Given the description of an element on the screen output the (x, y) to click on. 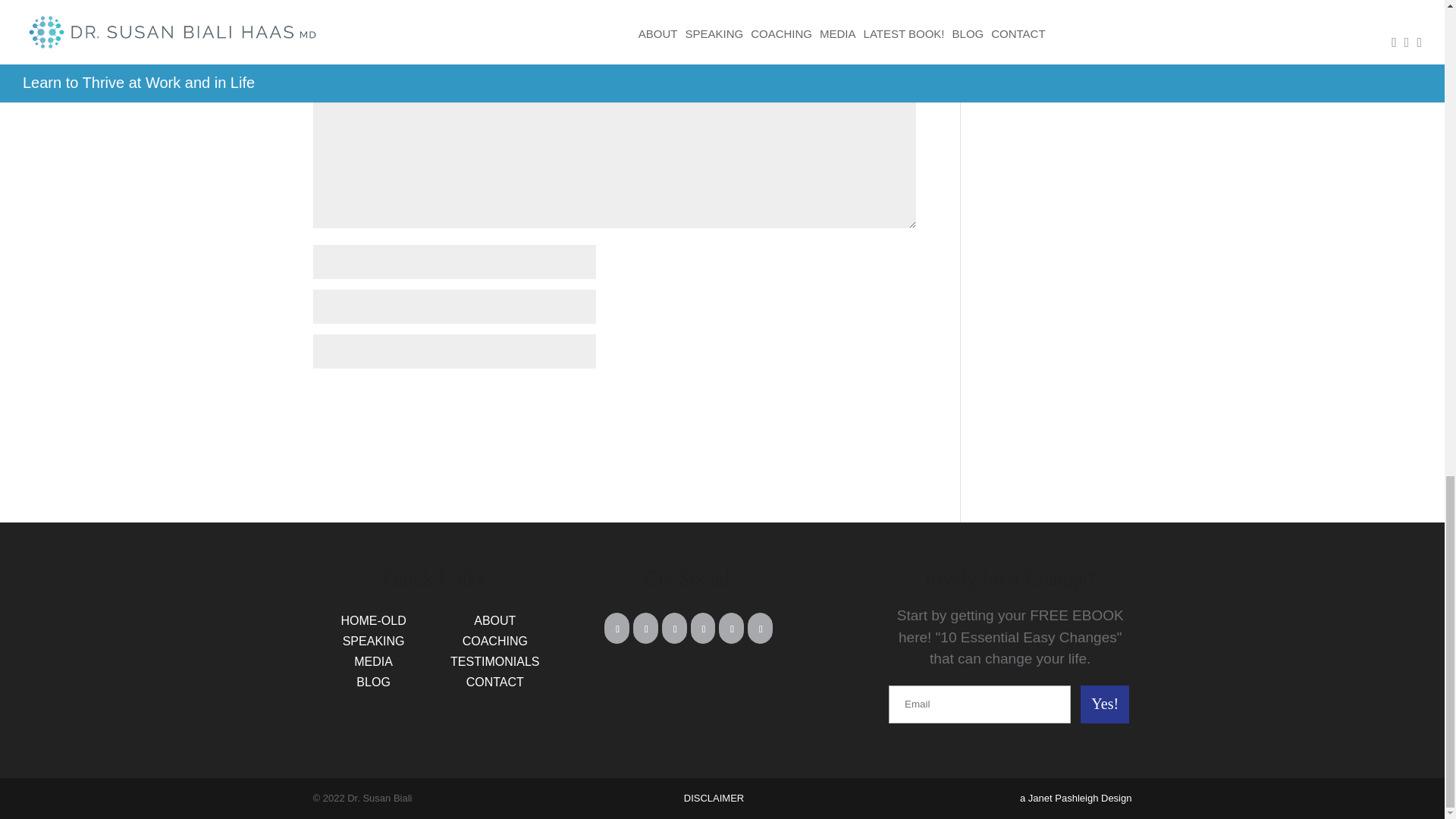
Submit Comment (840, 397)
Yes! (1104, 704)
Submit Comment (840, 397)
